Given the description of an element on the screen output the (x, y) to click on. 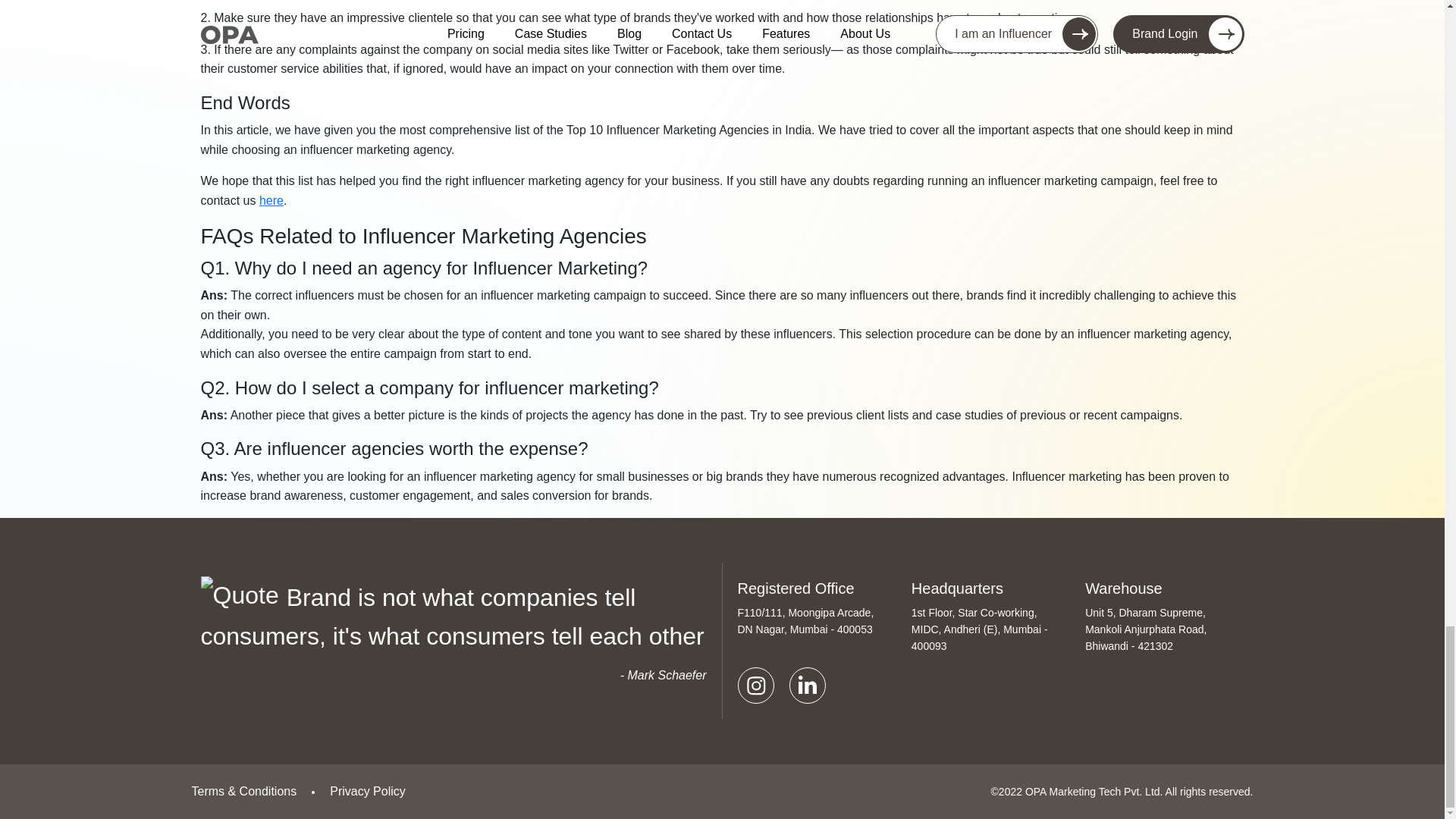
here (271, 200)
Privacy Policy (368, 790)
